Given the description of an element on the screen output the (x, y) to click on. 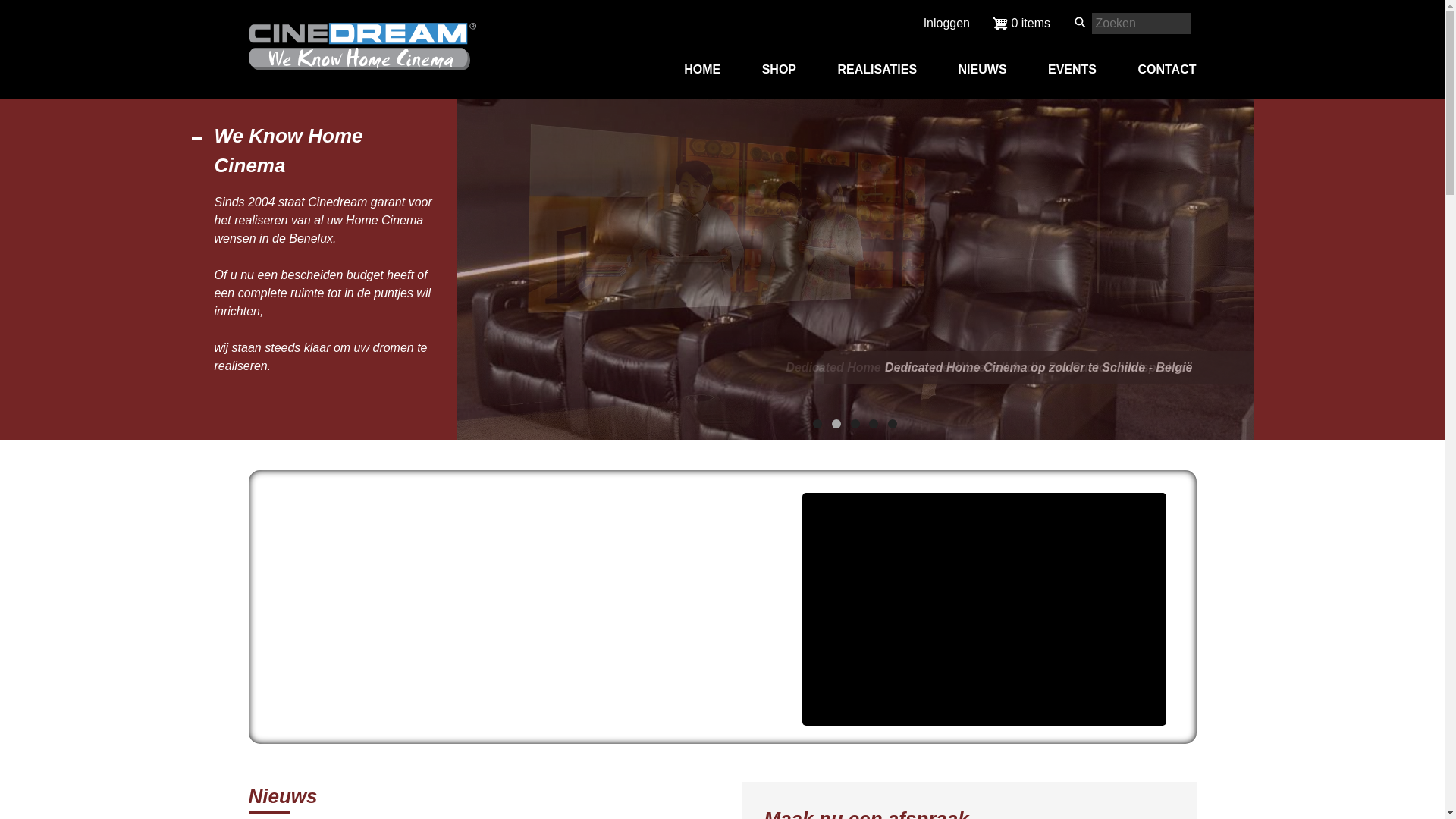
REALISATIES Element type: text (876, 68)
NIEUWS Element type: text (982, 68)
SHOP Element type: text (779, 68)
Overslaan en naar de inhoud gaan Element type: text (0, 0)
HOME Element type: text (702, 68)
CONTACT Element type: text (1166, 68)
EVENTS Element type: text (1072, 68)
Ontwerp uw Home Cinema Element type: text (405, 678)
0 items Element type: text (1021, 23)
Afbeelding Element type: text (854, 271)
Apply Element type: text (21, 9)
Inloggen Element type: text (946, 22)
